Given the description of an element on the screen output the (x, y) to click on. 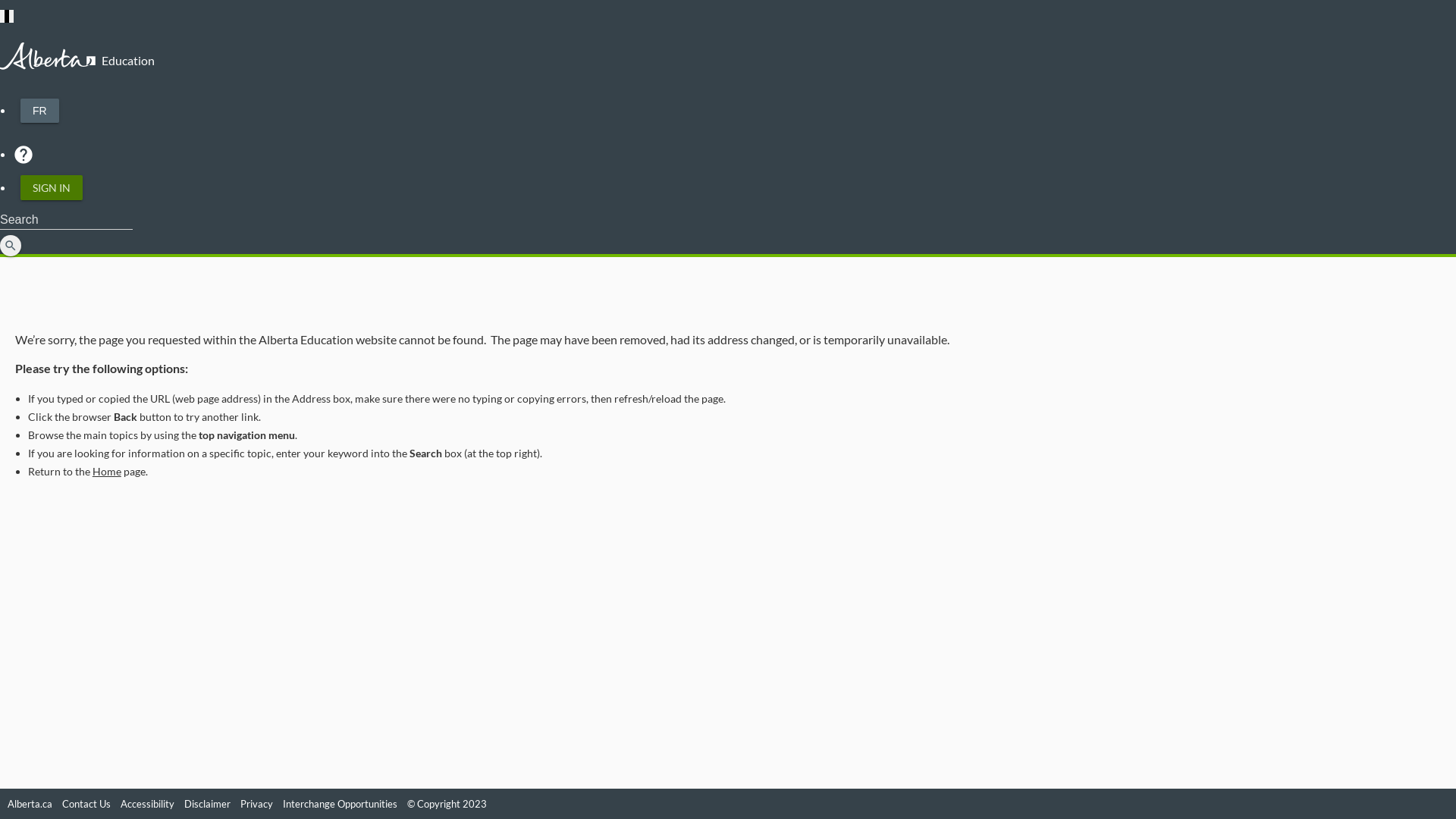
Twitter Element type: hover (1434, 802)
Interchange Opportunities Element type: text (339, 803)
Alberta.ca Element type: text (29, 803)
Home Element type: text (106, 470)
FR Element type: text (39, 110)
Privacy Element type: text (256, 803)
Accessibility Element type: text (147, 803)
YouTube Element type: hover (1444, 802)
Facebook Element type: hover (1424, 802)
Disclaimer Element type: text (207, 803)
SIGN IN Element type: text (51, 187)
search Element type: text (10, 245)
Contact Us Element type: text (86, 803)
